Given the description of an element on the screen output the (x, y) to click on. 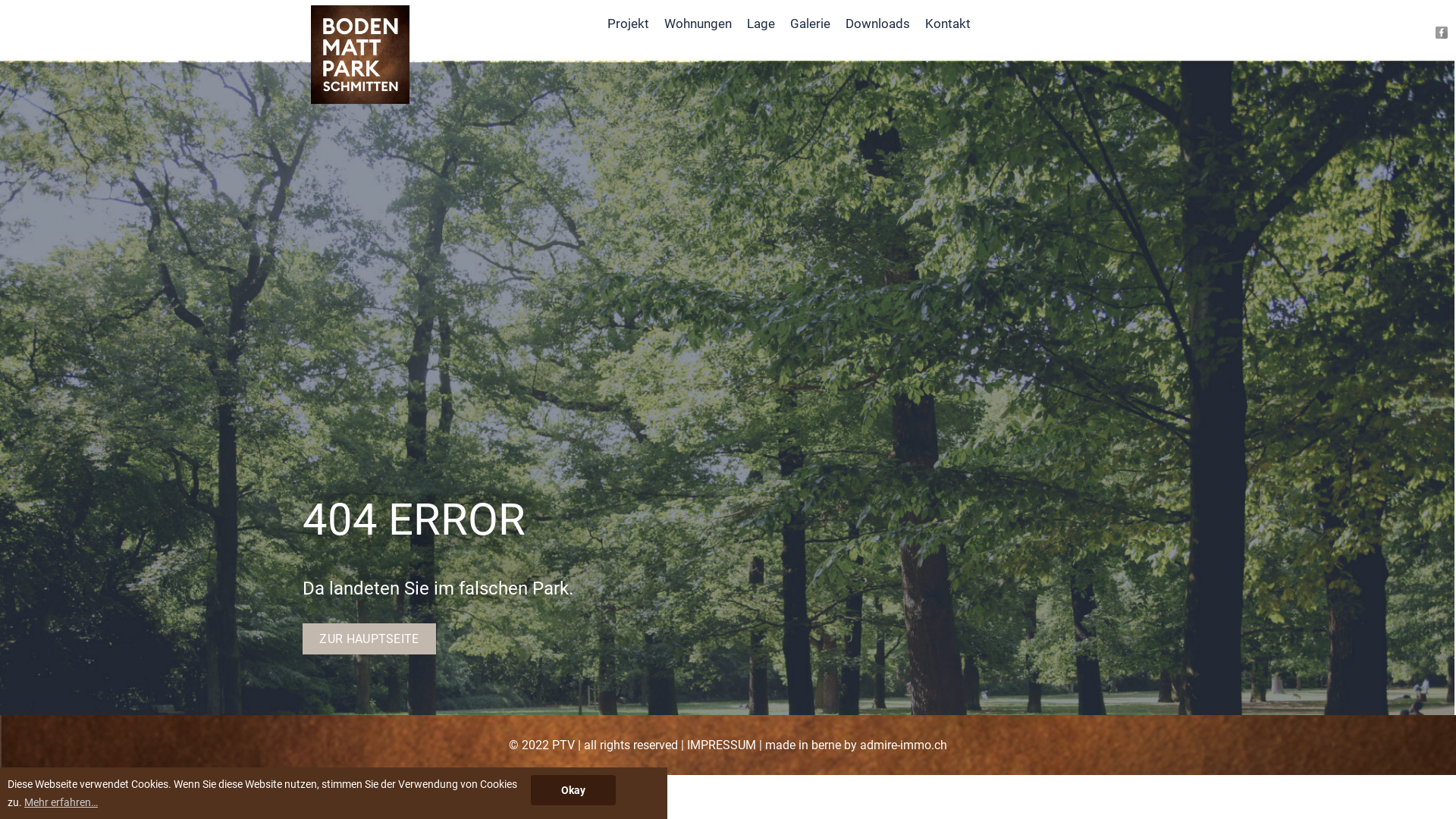
Galerie Element type: text (809, 23)
ZUR HAUPTSEITE Element type: text (369, 638)
Kontakt Element type: text (947, 23)
Okay Element type: text (572, 790)
Lage Element type: text (760, 23)
admire-immo.ch Element type: text (903, 744)
Wohnungen Element type: text (697, 23)
IMPRESSUM Element type: text (721, 744)
Projekt Element type: text (627, 23)
Downloads Element type: text (877, 23)
